Given the description of an element on the screen output the (x, y) to click on. 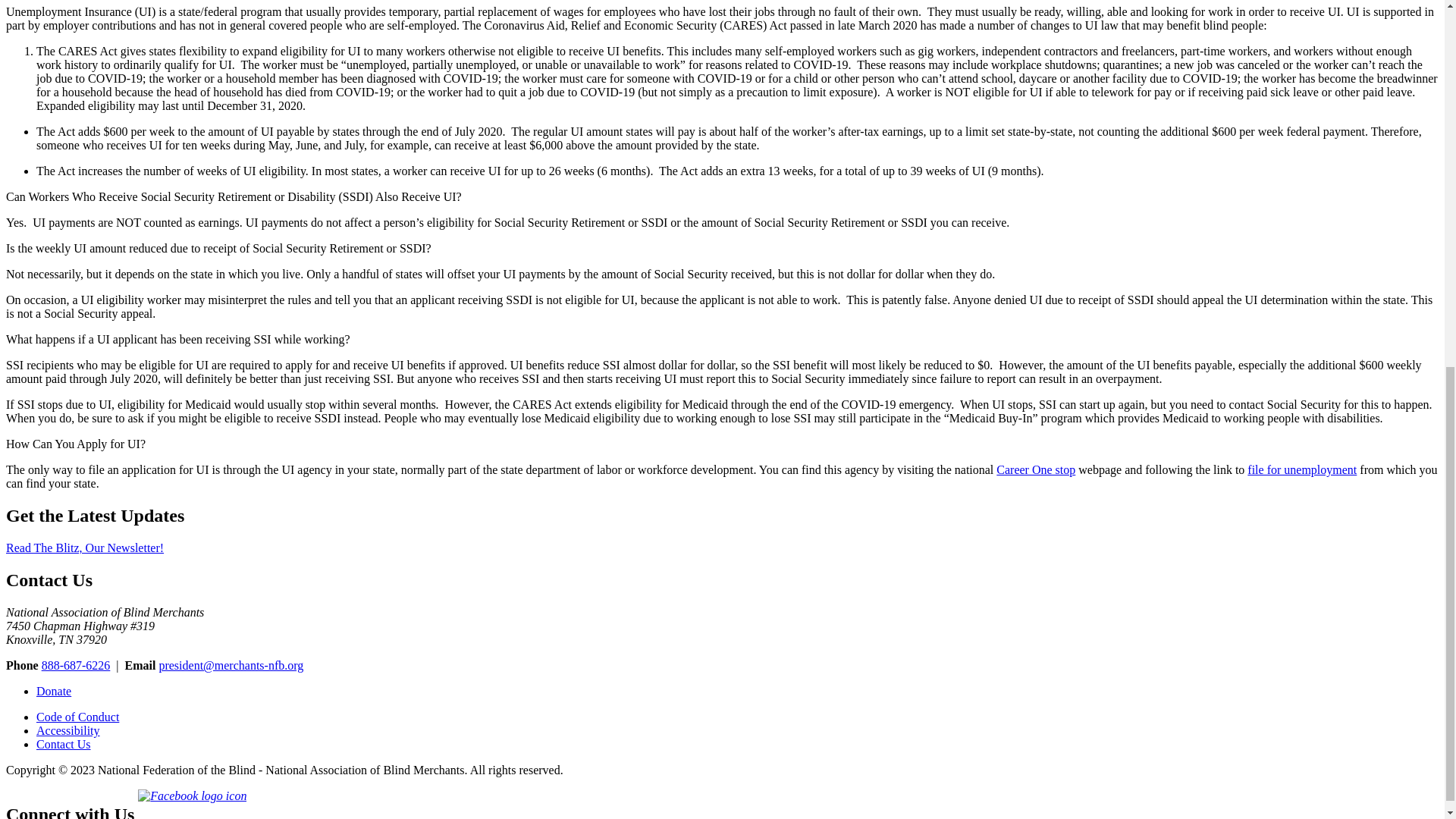
888-687-6226 (76, 665)
Donate (53, 690)
Career One stop (1035, 469)
Accessibility (68, 730)
Code of Conduct (77, 716)
Contact Us (63, 744)
Read The Blitz, Our Newsletter! (84, 547)
file for unemployment (1301, 469)
